Given the description of an element on the screen output the (x, y) to click on. 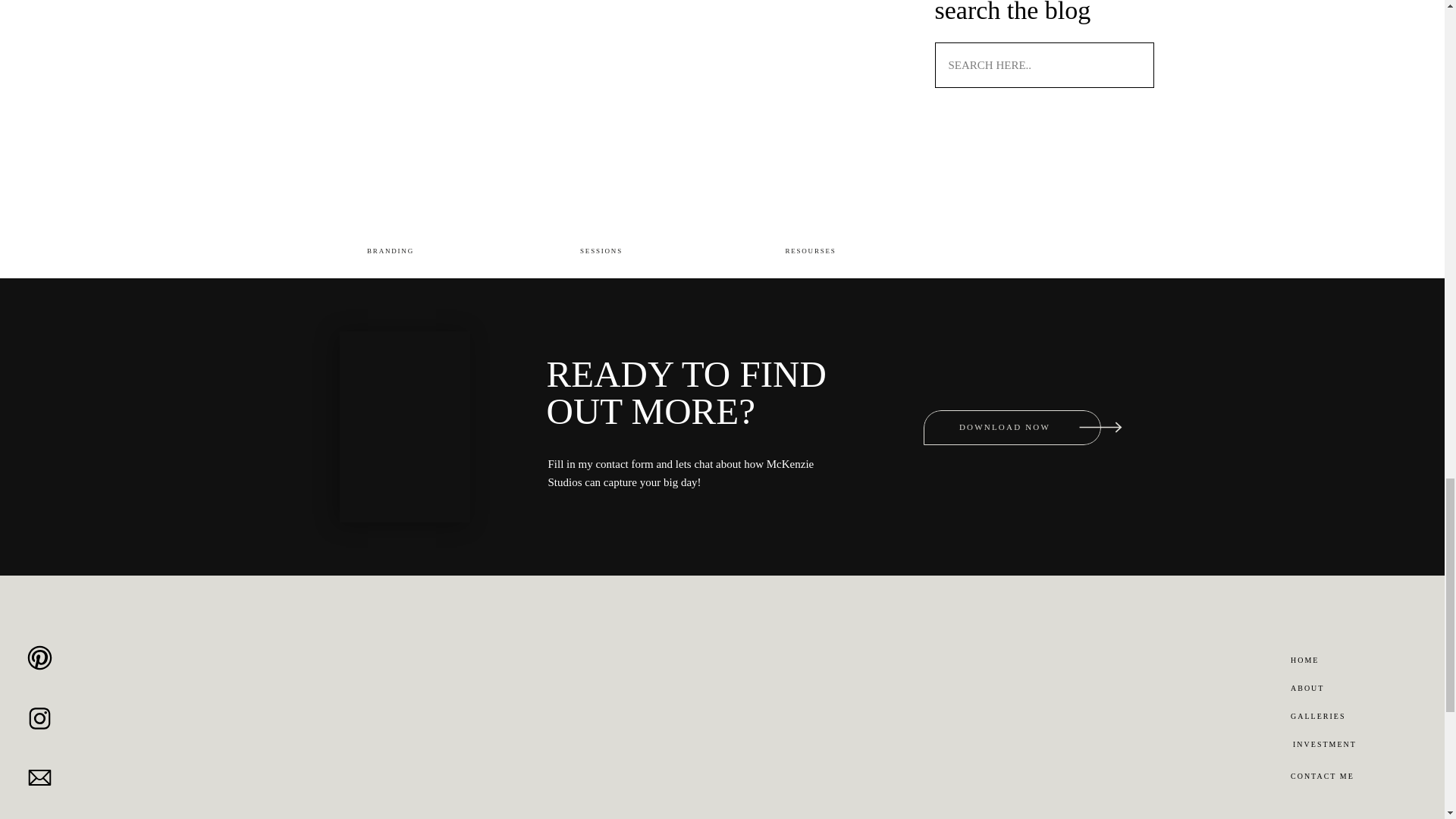
INVESTMENT (1350, 744)
DOWNLOAD NOW (1004, 427)
GALLERIES (1349, 716)
CONTACT ME (1348, 776)
ABOUT (1340, 689)
HOME (1341, 661)
